Given the description of an element on the screen output the (x, y) to click on. 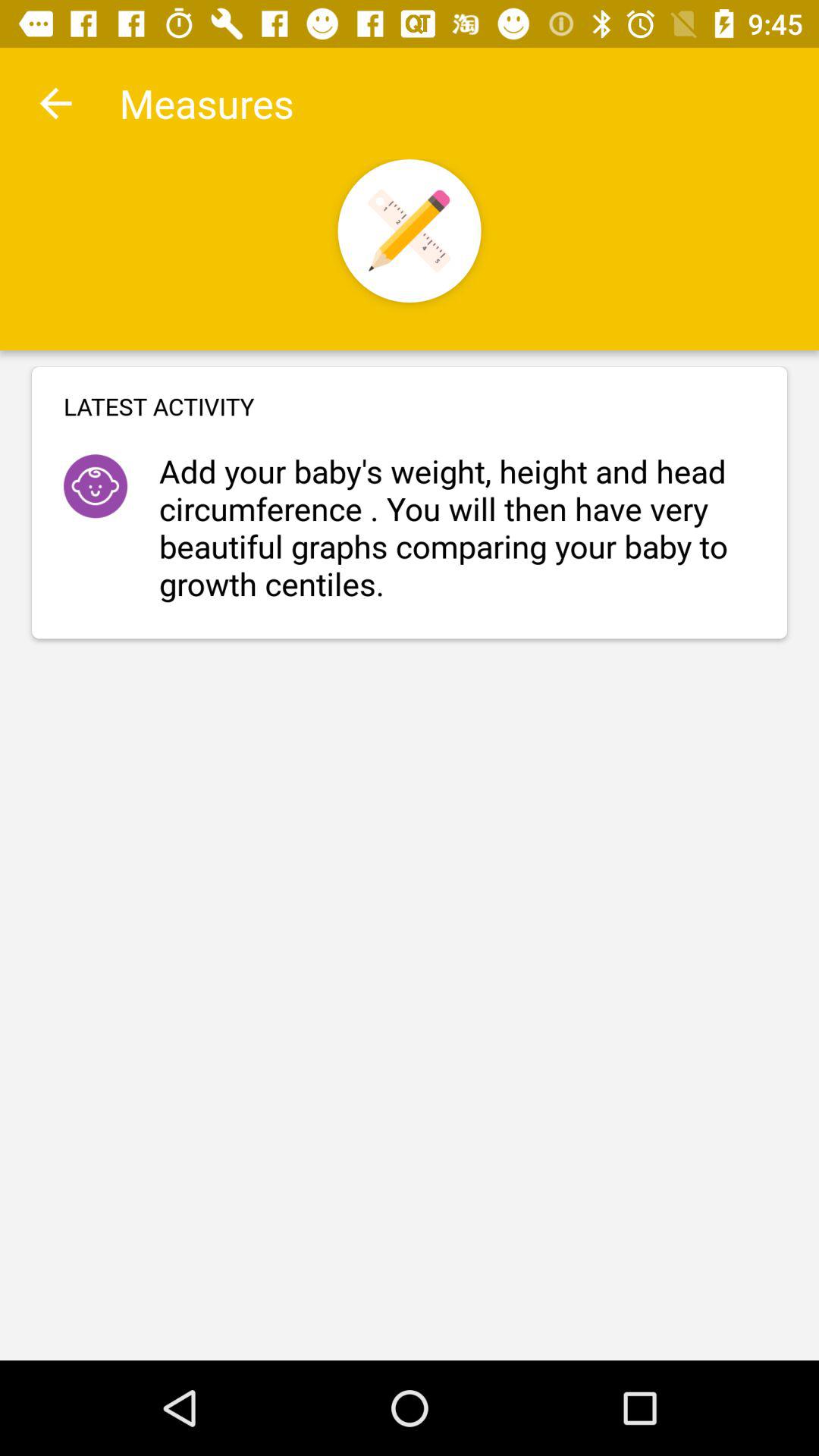
click item to the left of the measures (55, 103)
